Given the description of an element on the screen output the (x, y) to click on. 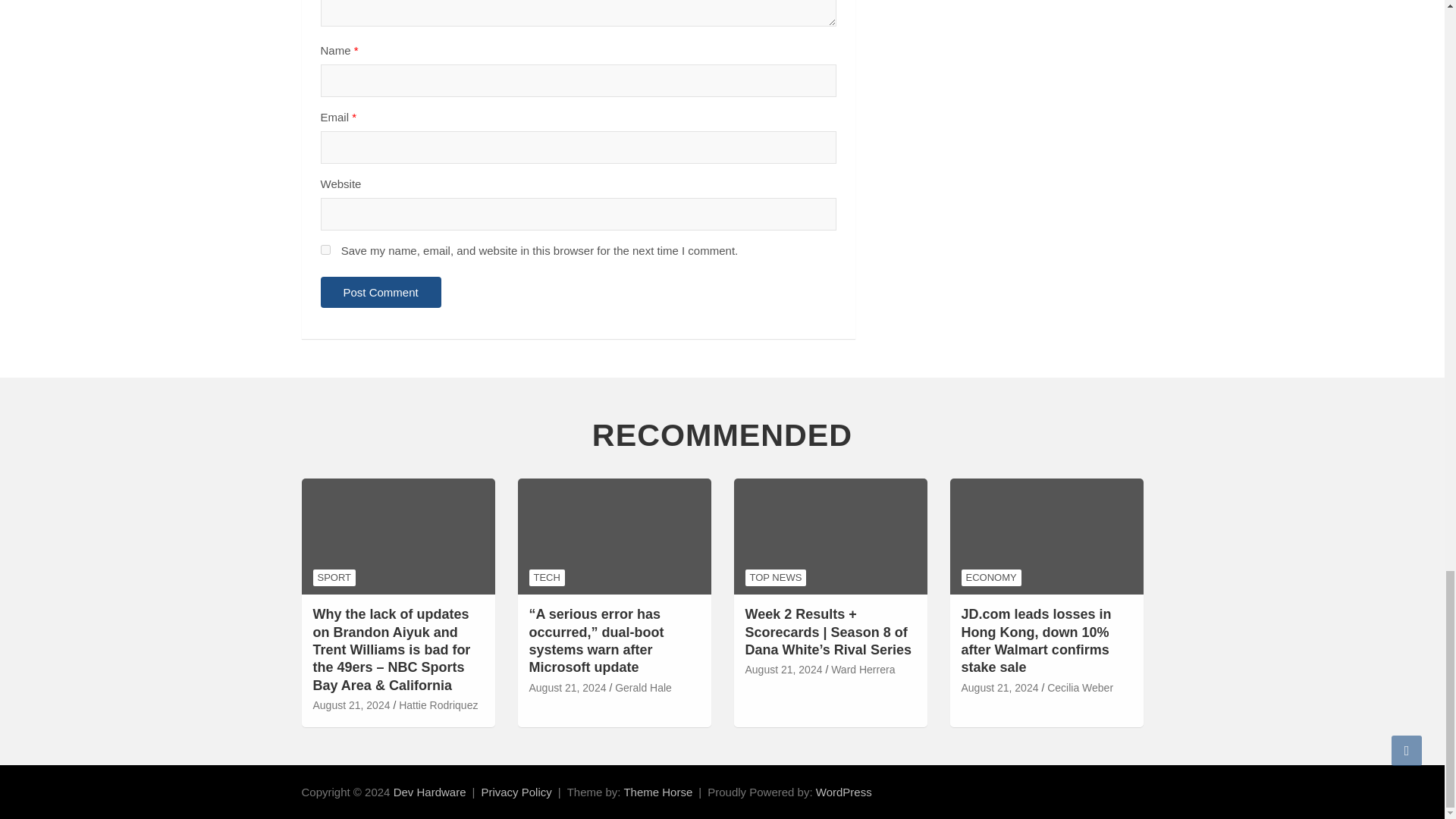
yes (325, 249)
WordPress (843, 791)
Post Comment (380, 291)
Theme Horse (658, 791)
Post Comment (380, 291)
Dev Hardware (429, 791)
